Given the description of an element on the screen output the (x, y) to click on. 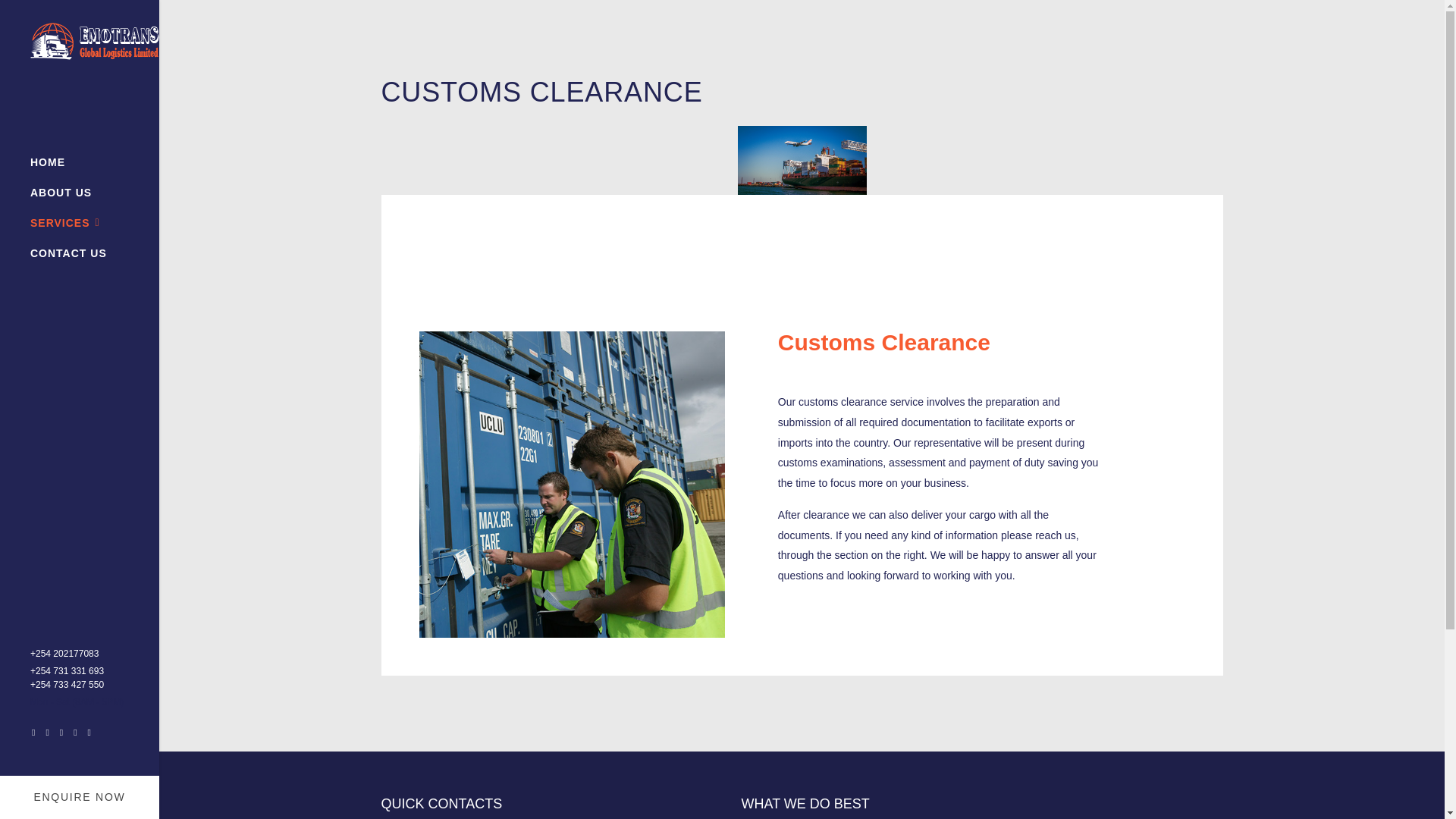
SERVICES (65, 223)
CONTACT US (68, 253)
HOME (47, 162)
ABOUT US (60, 192)
ENQUIRE NOW (79, 796)
